Given the description of an element on the screen output the (x, y) to click on. 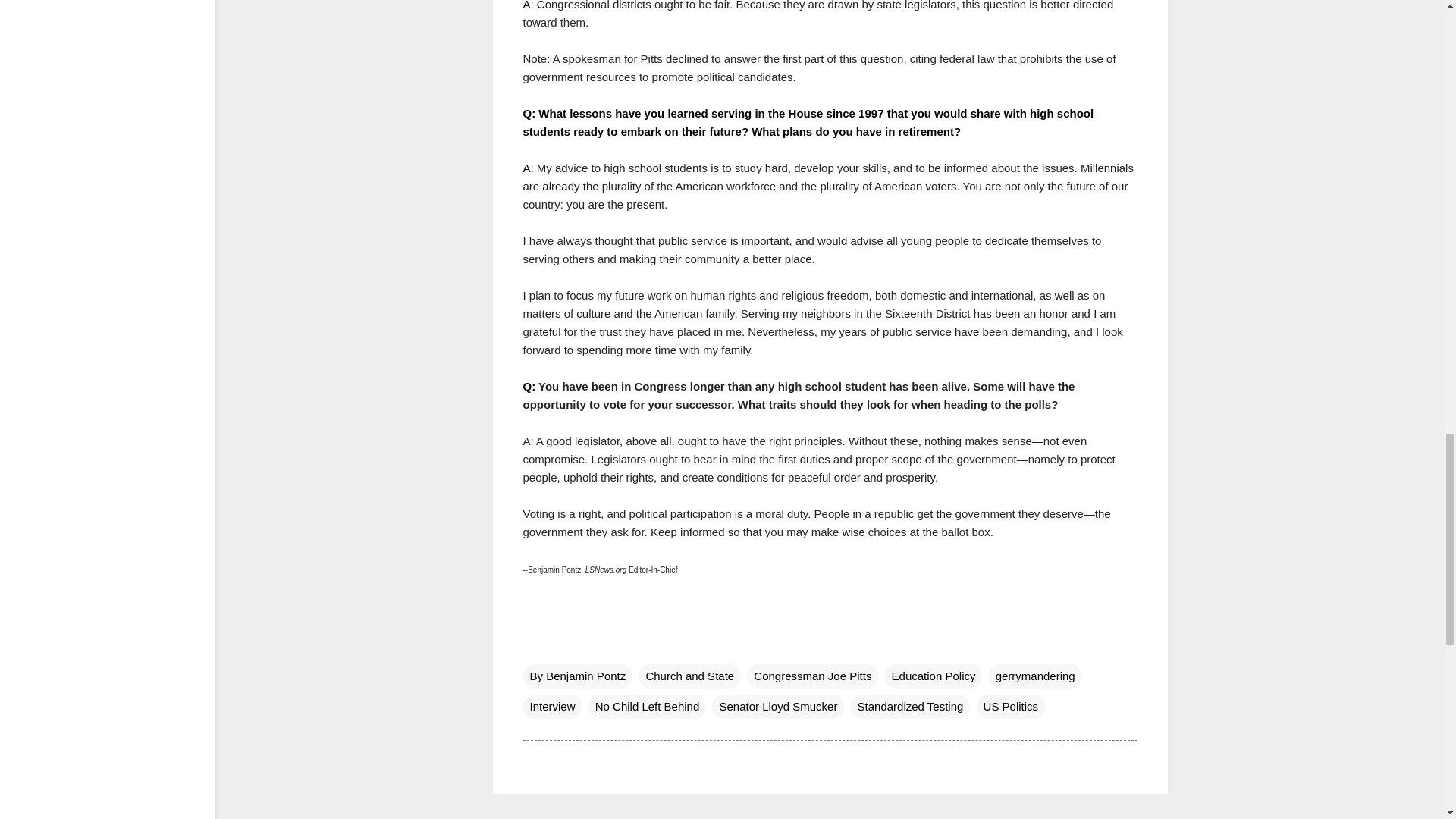
Interview (552, 706)
Church and State (690, 676)
No Child Left Behind (647, 706)
US Politics (1010, 706)
Standardized Testing (910, 706)
Email Post (531, 645)
Education Policy (933, 676)
Senator Lloyd Smucker (777, 706)
Congressman Joe Pitts (811, 676)
By Benjamin Pontz (577, 676)
